Given the description of an element on the screen output the (x, y) to click on. 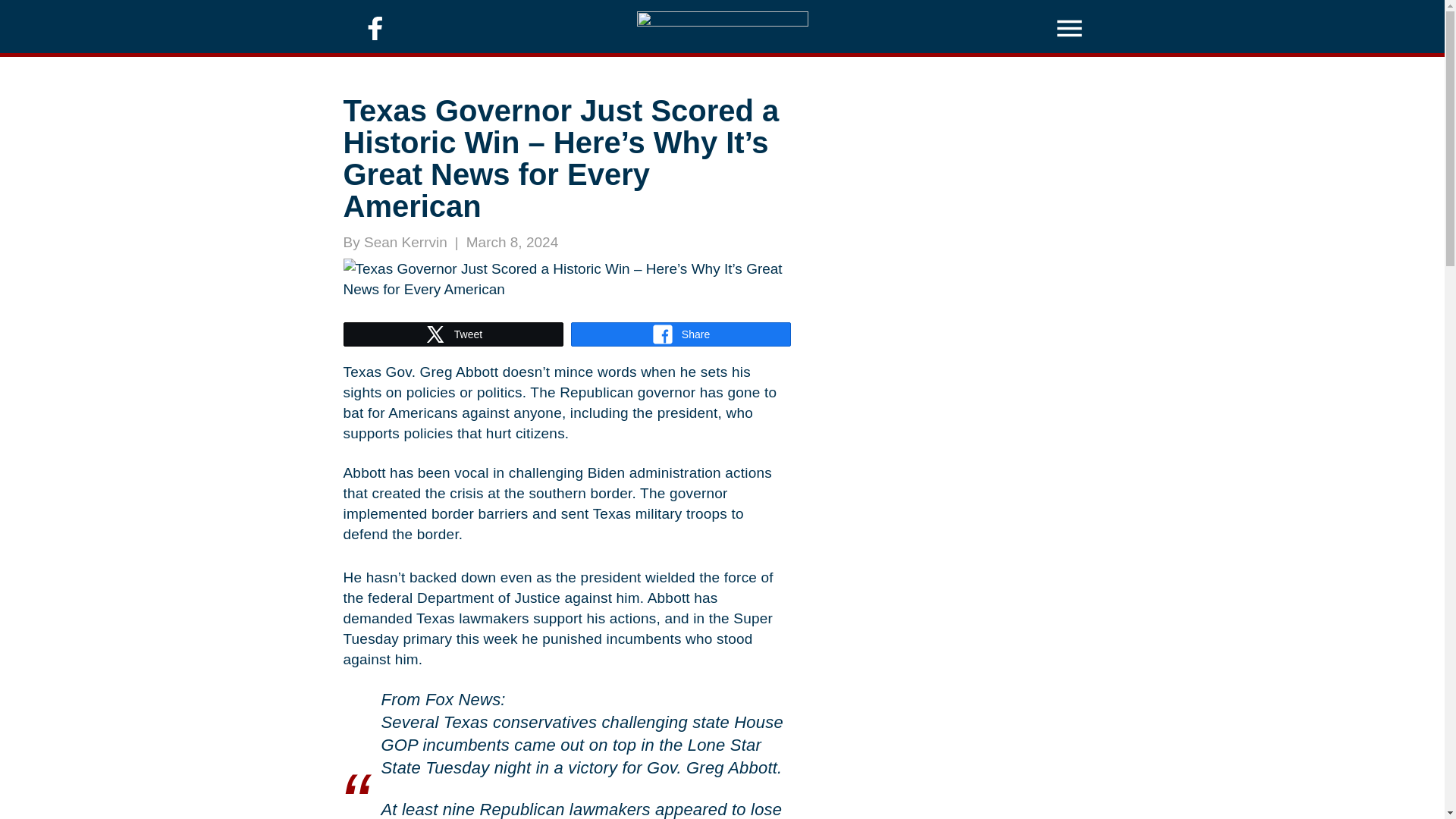
Share (681, 333)
Tweet (452, 333)
Sean Kerrvin (405, 242)
